Given the description of an element on the screen output the (x, y) to click on. 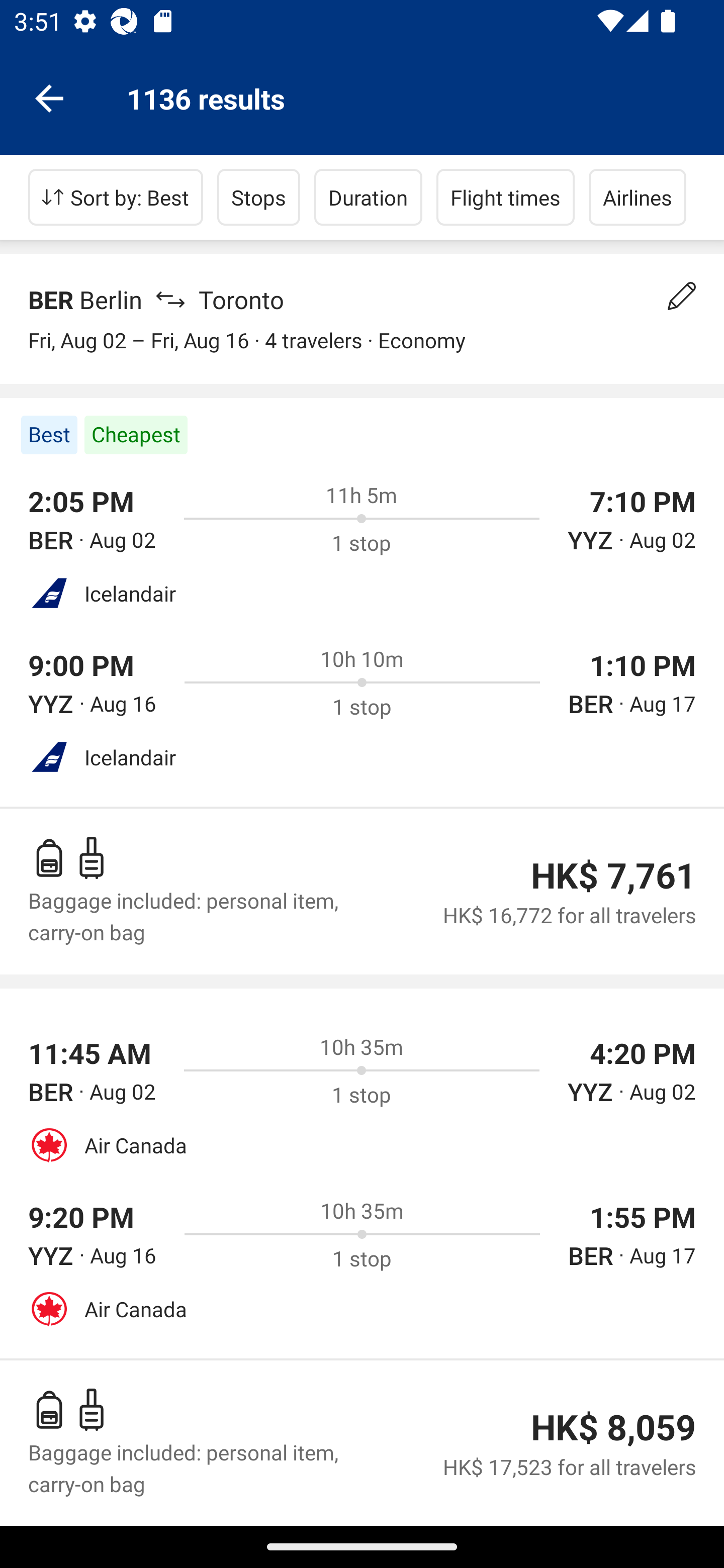
Navigate up (49, 97)
Sort by: Best (115, 197)
Stops (258, 197)
Duration (368, 197)
Flight times (505, 197)
Airlines (637, 197)
Change your search details (681, 296)
HK$ 7,761 (612, 875)
HK$ 8,059 (612, 1427)
